Given the description of an element on the screen output the (x, y) to click on. 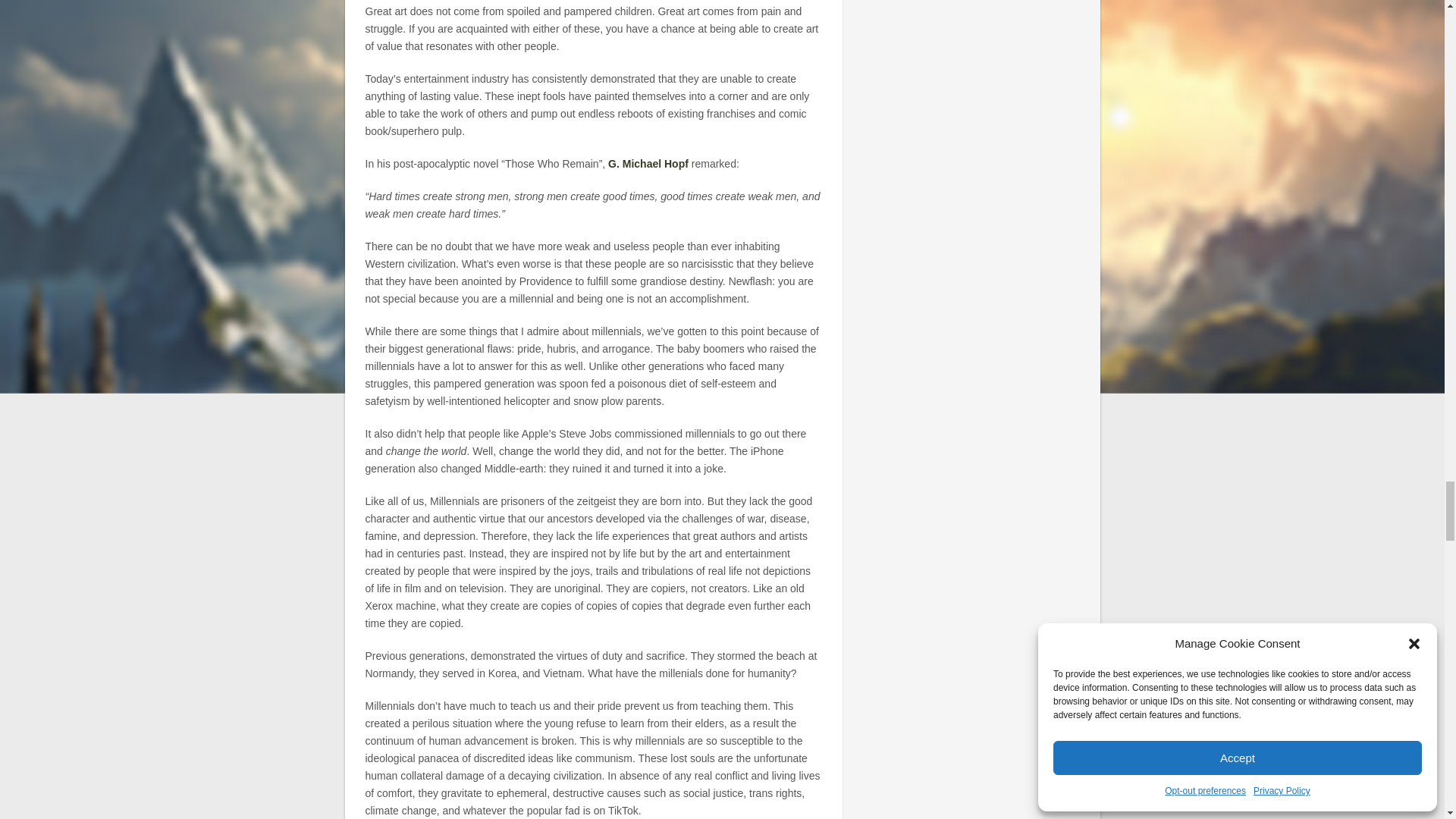
G. Michael Hopf (648, 163)
